Given the description of an element on the screen output the (x, y) to click on. 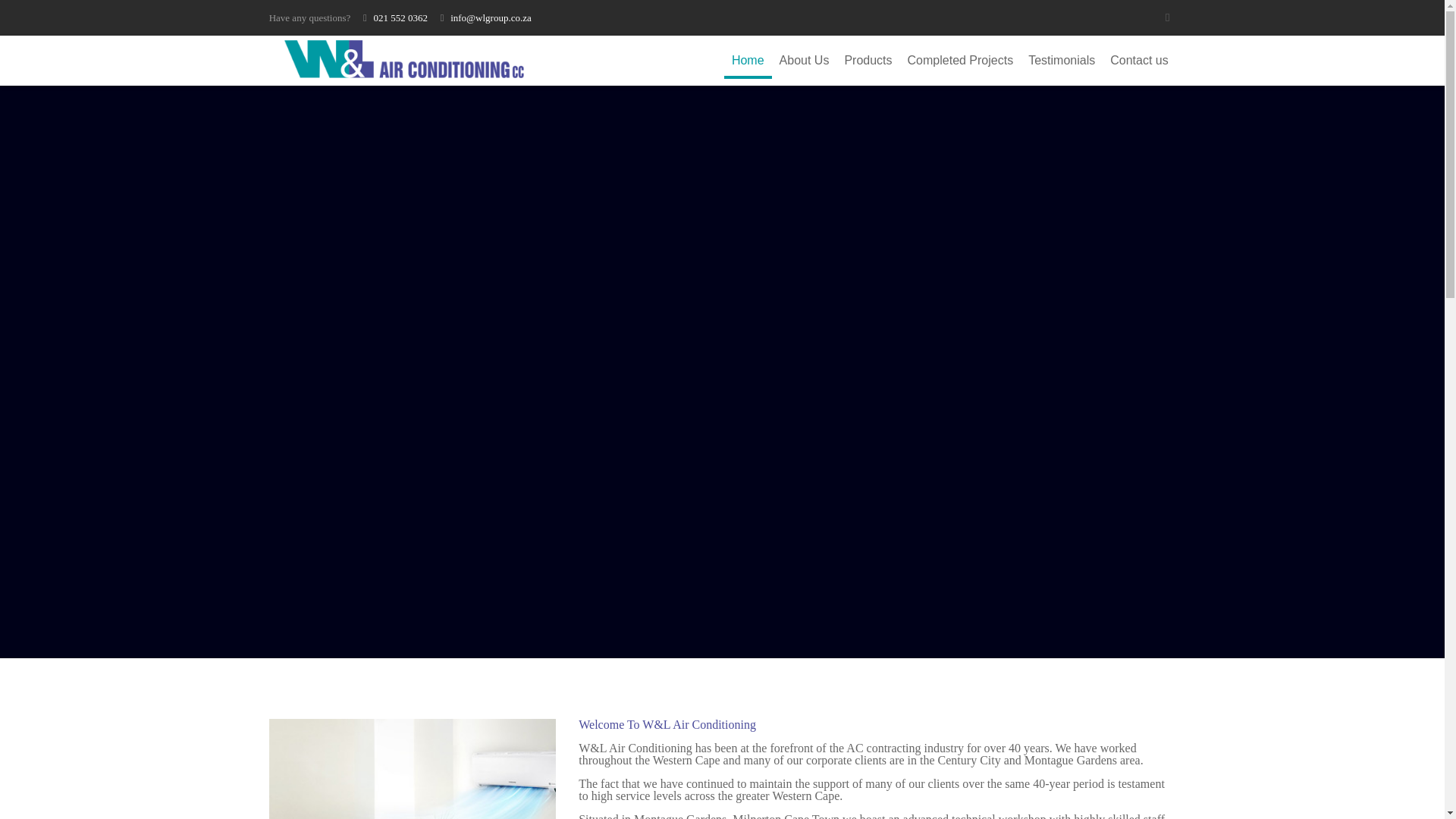
Home (747, 60)
Testimonials (1061, 60)
Facebook (1166, 17)
About Us (804, 60)
Completed Projects (960, 60)
021 552 0362 (400, 17)
Century City (969, 759)
Contact us (1138, 60)
Products (867, 60)
